Given the description of an element on the screen output the (x, y) to click on. 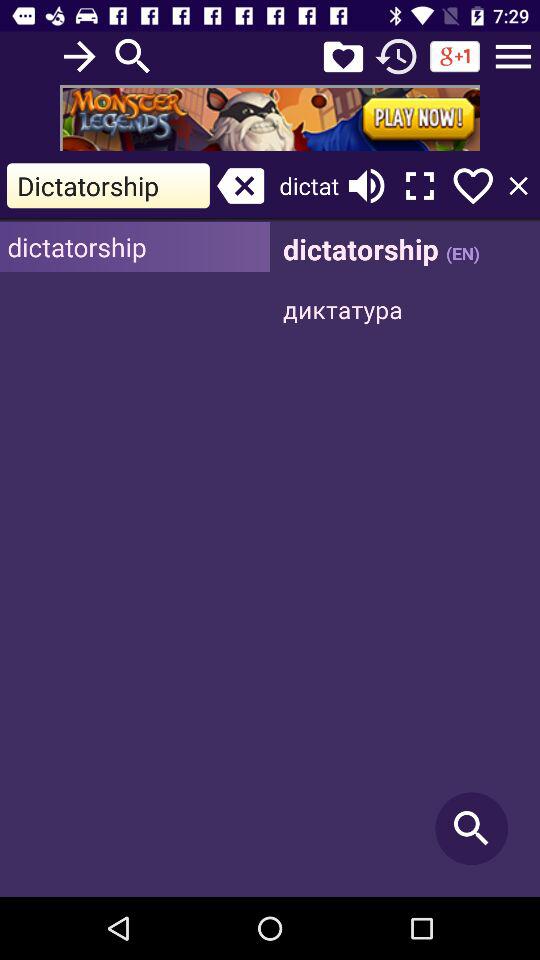
select the one  which is left side to the cross mark in the first (108, 186)
click on the volume button (366, 186)
click on symbol beside search symbol (343, 56)
click on the menu at top right corner (513, 56)
click on the icon which is left to dictat (241, 186)
click on the icon next to volume icon (419, 186)
